Given the description of an element on the screen output the (x, y) to click on. 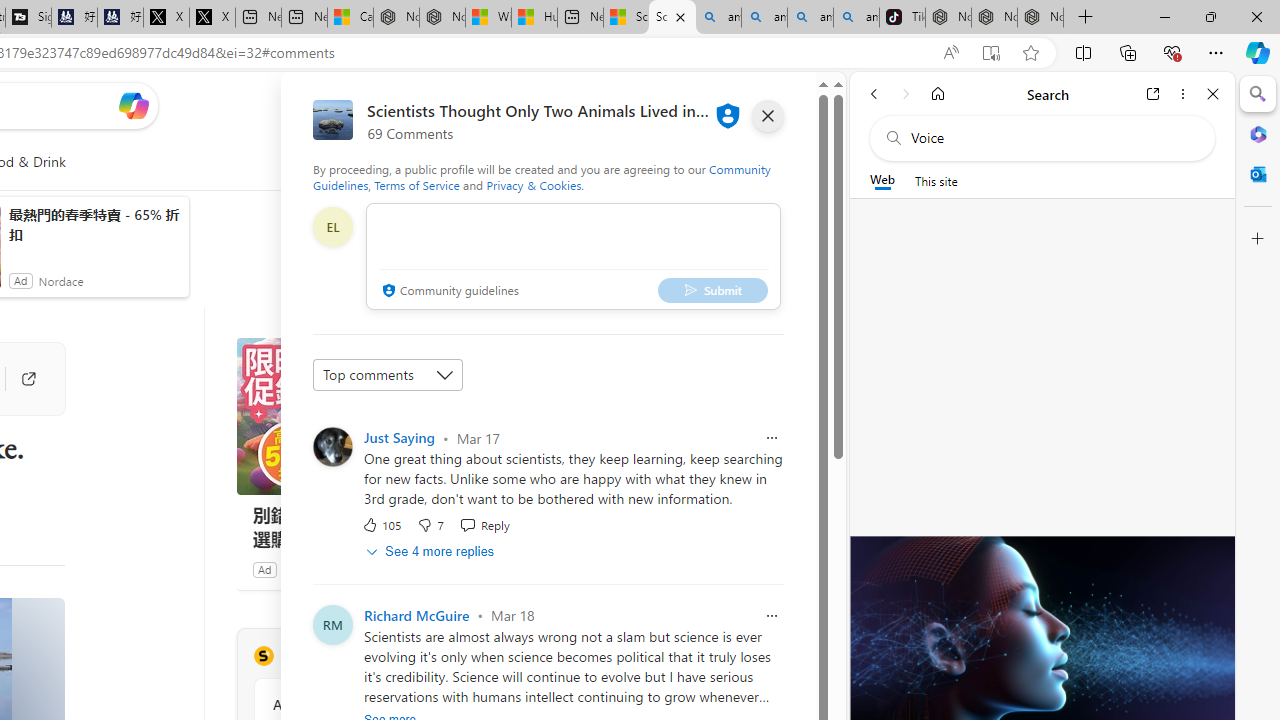
This site scope (936, 180)
Nordace Siena Pro 15 Backpack (994, 17)
Open link in new tab (1153, 93)
Outlook (1258, 174)
New Tab (1085, 17)
Collections (1128, 52)
Browser essentials (1171, 52)
Home (938, 93)
Report comment (771, 615)
Profile Picture (333, 446)
Read aloud this page (Ctrl+Shift+U) (950, 53)
Notifications (746, 105)
comment-box (573, 256)
Microsoft 365 (1258, 133)
